Given the description of an element on the screen output the (x, y) to click on. 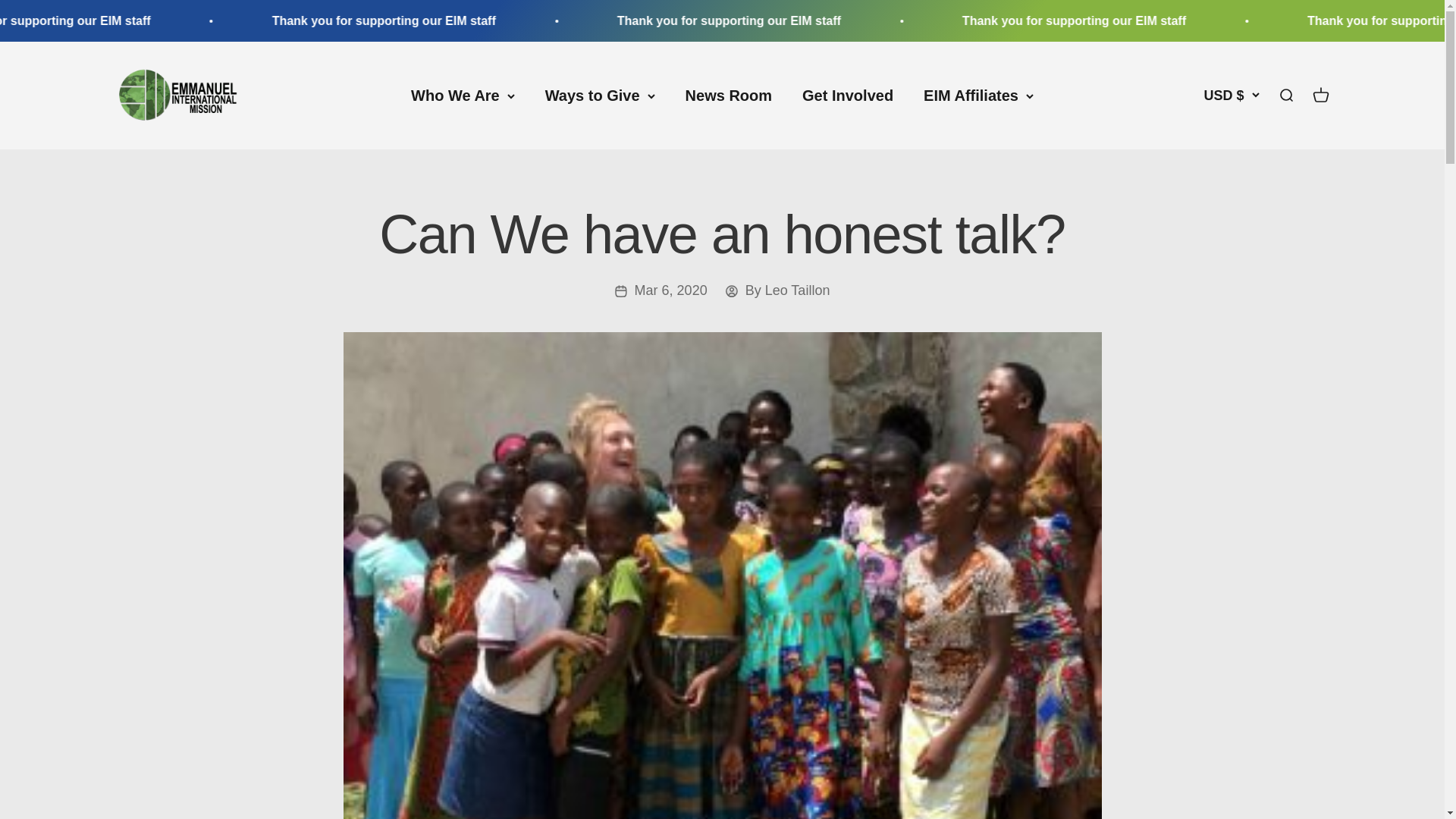
Thank you for supporting our EIM staff (1173, 20)
Emmanuel International Mission (177, 95)
News Room (728, 95)
Thank you for supporting our EIM staff (138, 20)
Thank you for supporting our EIM staff (828, 20)
Open search (1285, 95)
Get Involved (1319, 95)
Thank you for supporting our EIM staff (847, 95)
